Given the description of an element on the screen output the (x, y) to click on. 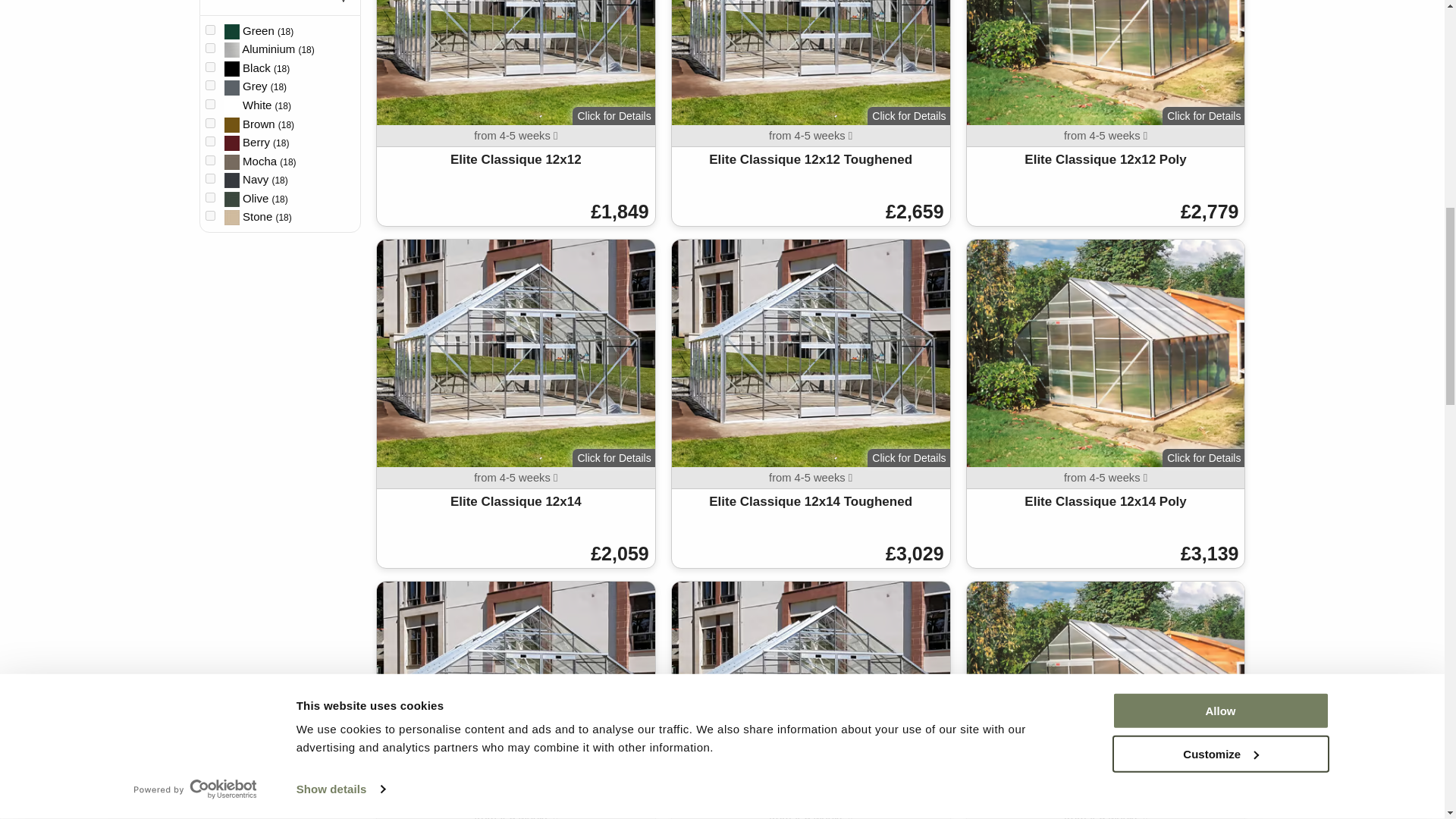
Click to see details. (1106, 403)
Click to see details. (810, 403)
Click to see details. (810, 113)
Click to see details. (515, 403)
Click to see details. (1106, 113)
Click to see details. (515, 113)
